Given the description of an element on the screen output the (x, y) to click on. 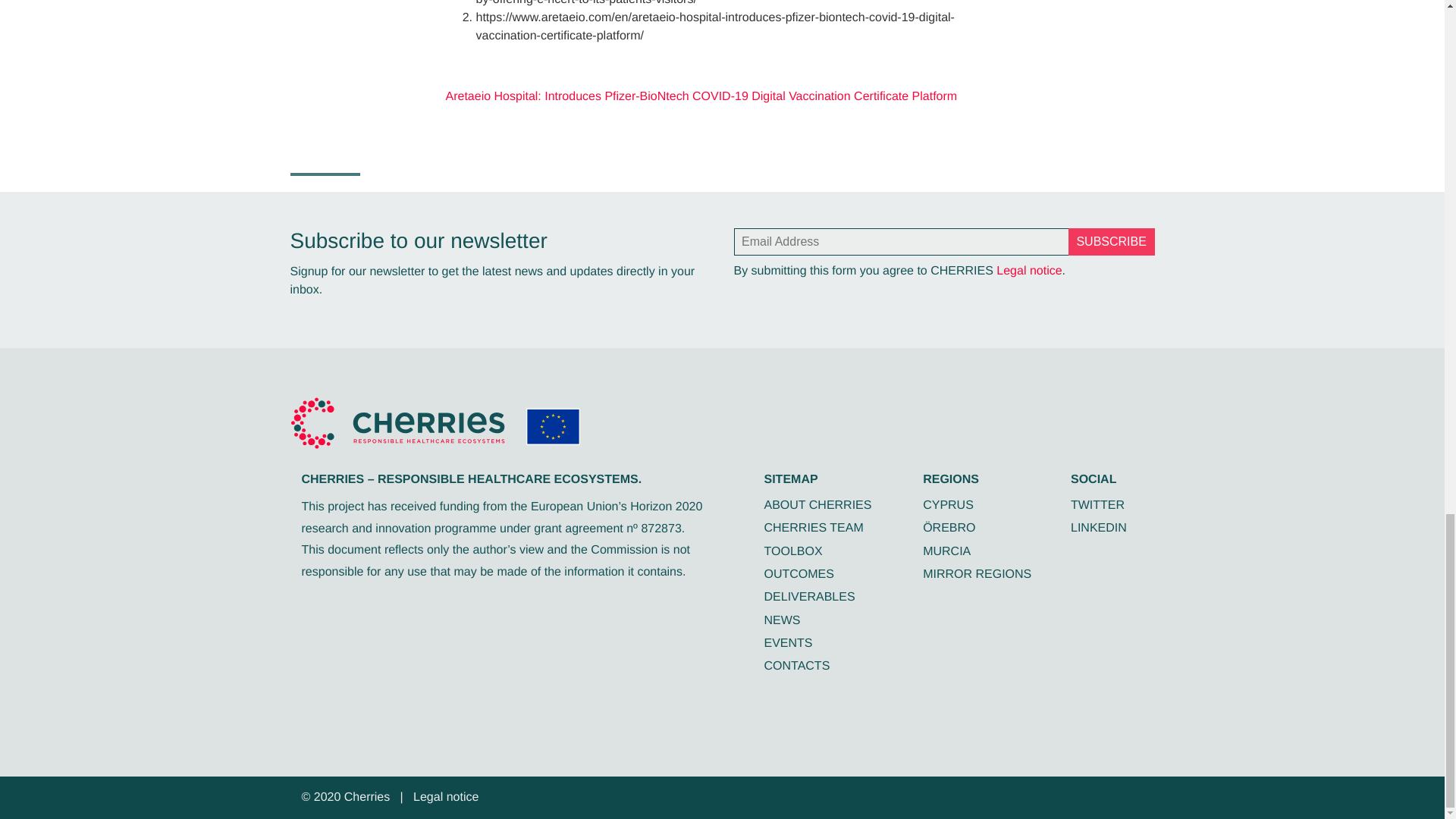
Subscribe (1111, 241)
MURCIA (947, 551)
TWITTER (1097, 504)
CHERRIES TEAM (813, 527)
EVENTS (788, 643)
MIRROR REGIONS (976, 574)
TOOLBOX (793, 551)
Legal notice (446, 797)
Subscribe (1111, 241)
CONTACTS (796, 666)
